Given the description of an element on the screen output the (x, y) to click on. 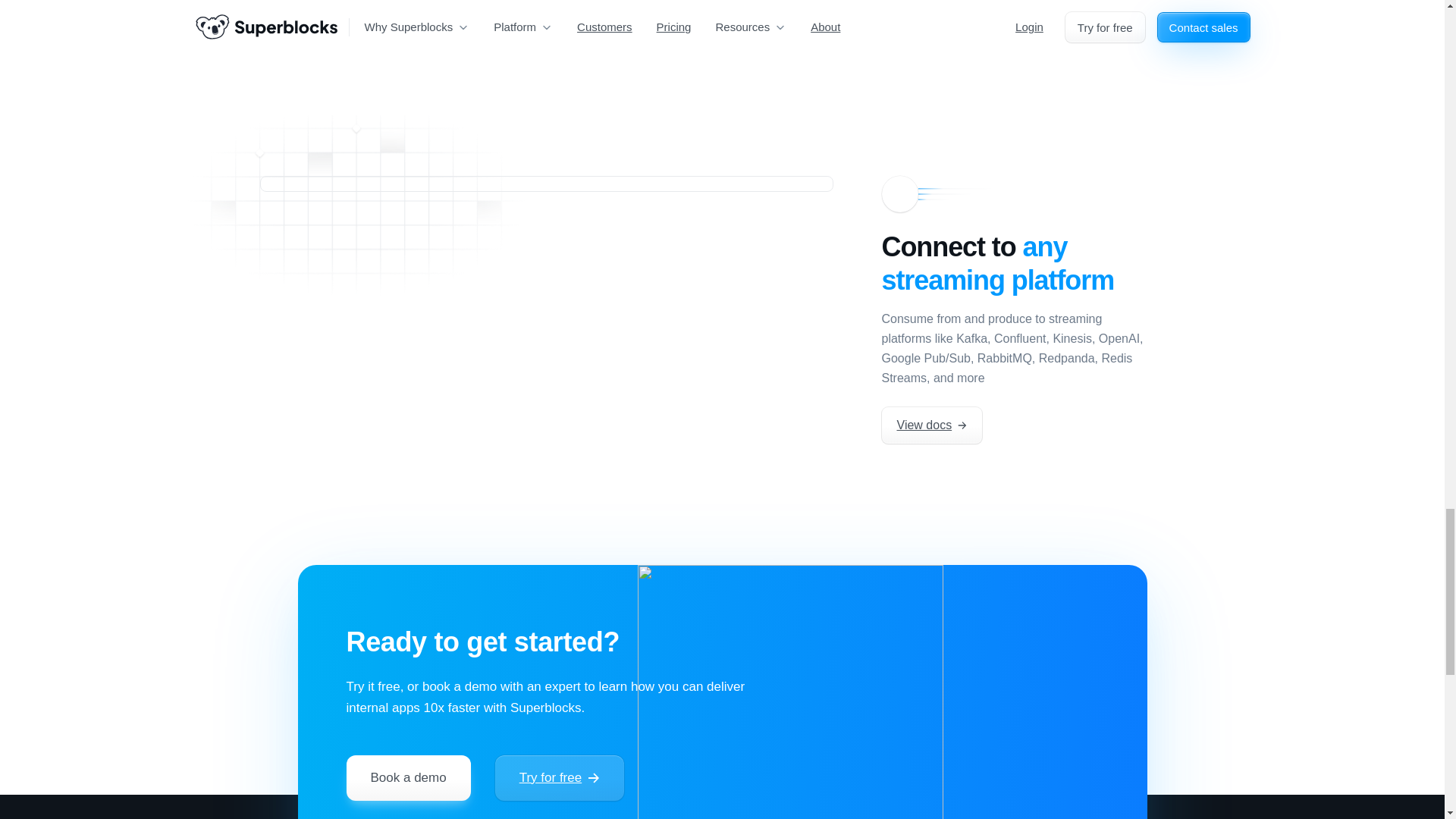
View docs (930, 425)
Try for free (559, 777)
Book a demo (408, 777)
